Given the description of an element on the screen output the (x, y) to click on. 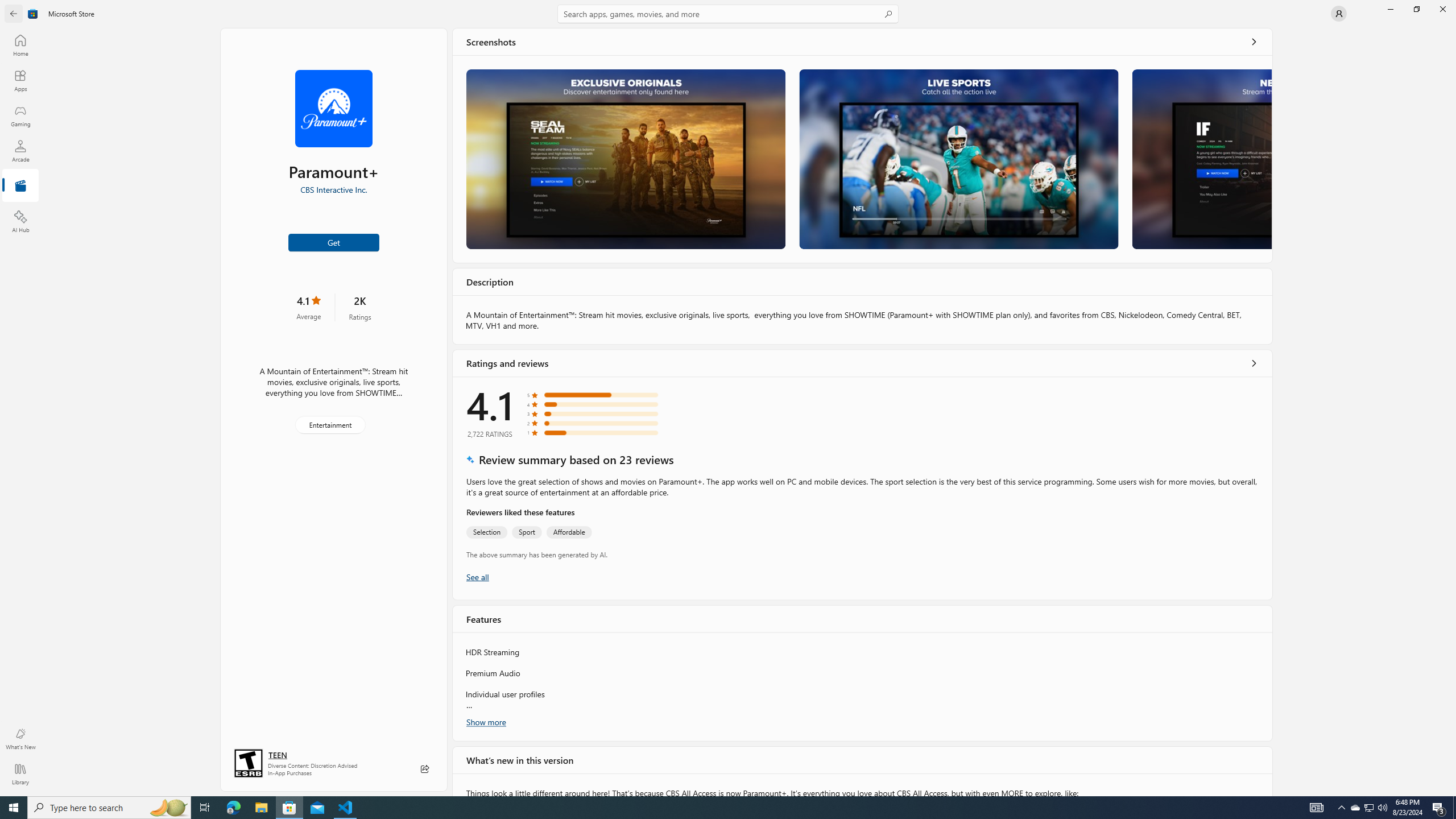
Close Microsoft Store (1442, 9)
Gaming (20, 115)
Screenshot 1 (624, 158)
See all (1253, 41)
Age rating: TEEN. Click for more information. (276, 754)
Show all ratings and reviews (1253, 362)
Get (334, 241)
Screenshot 3 (1201, 158)
Restore Microsoft Store (1416, 9)
Arcade (20, 150)
Search (727, 13)
Entertainment (329, 425)
Show more (485, 721)
Screenshot 2 (958, 158)
AutomationID: NavigationControl (728, 398)
